Given the description of an element on the screen output the (x, y) to click on. 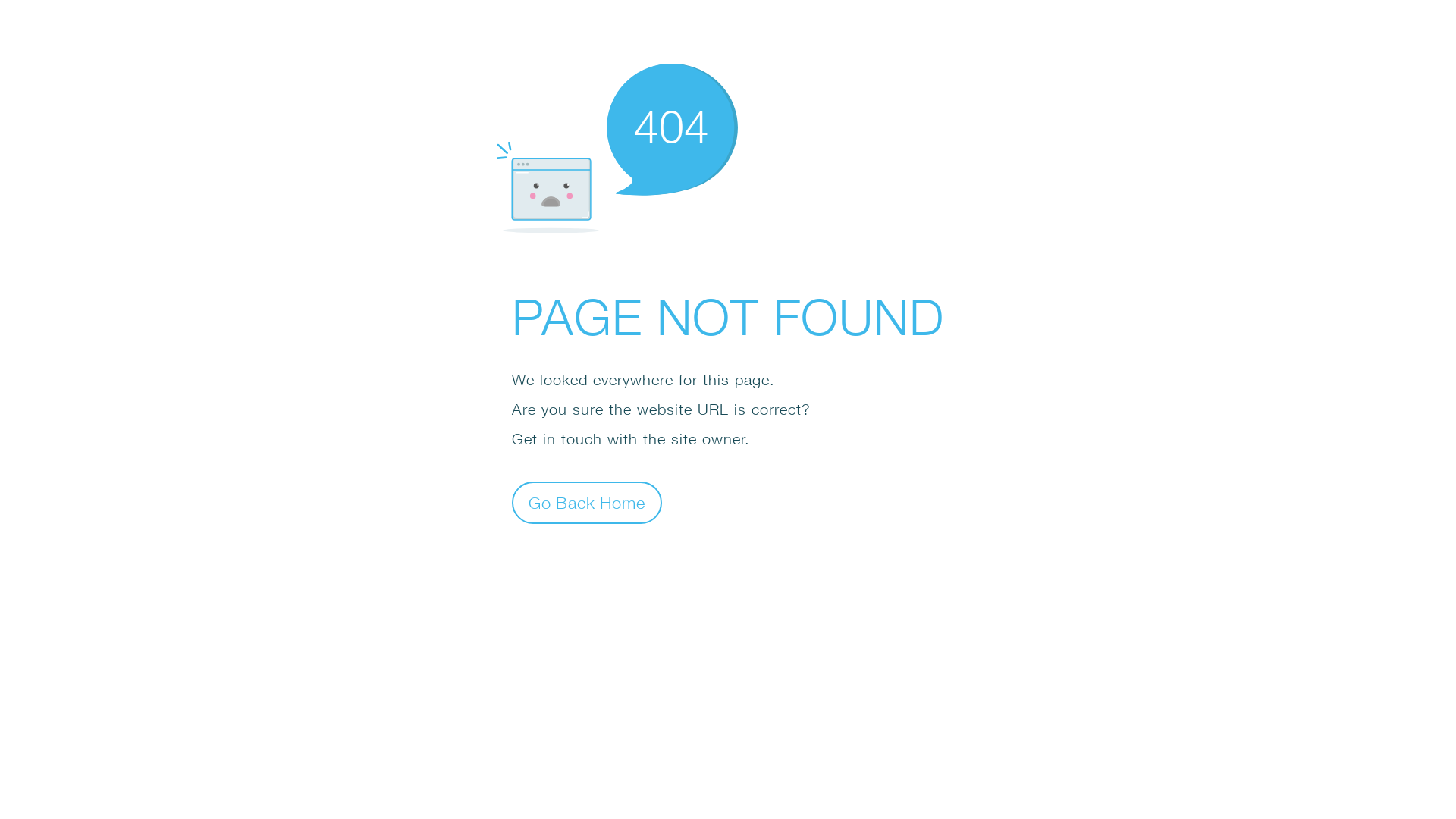
Go Back Home Element type: text (586, 502)
